Given the description of an element on the screen output the (x, y) to click on. 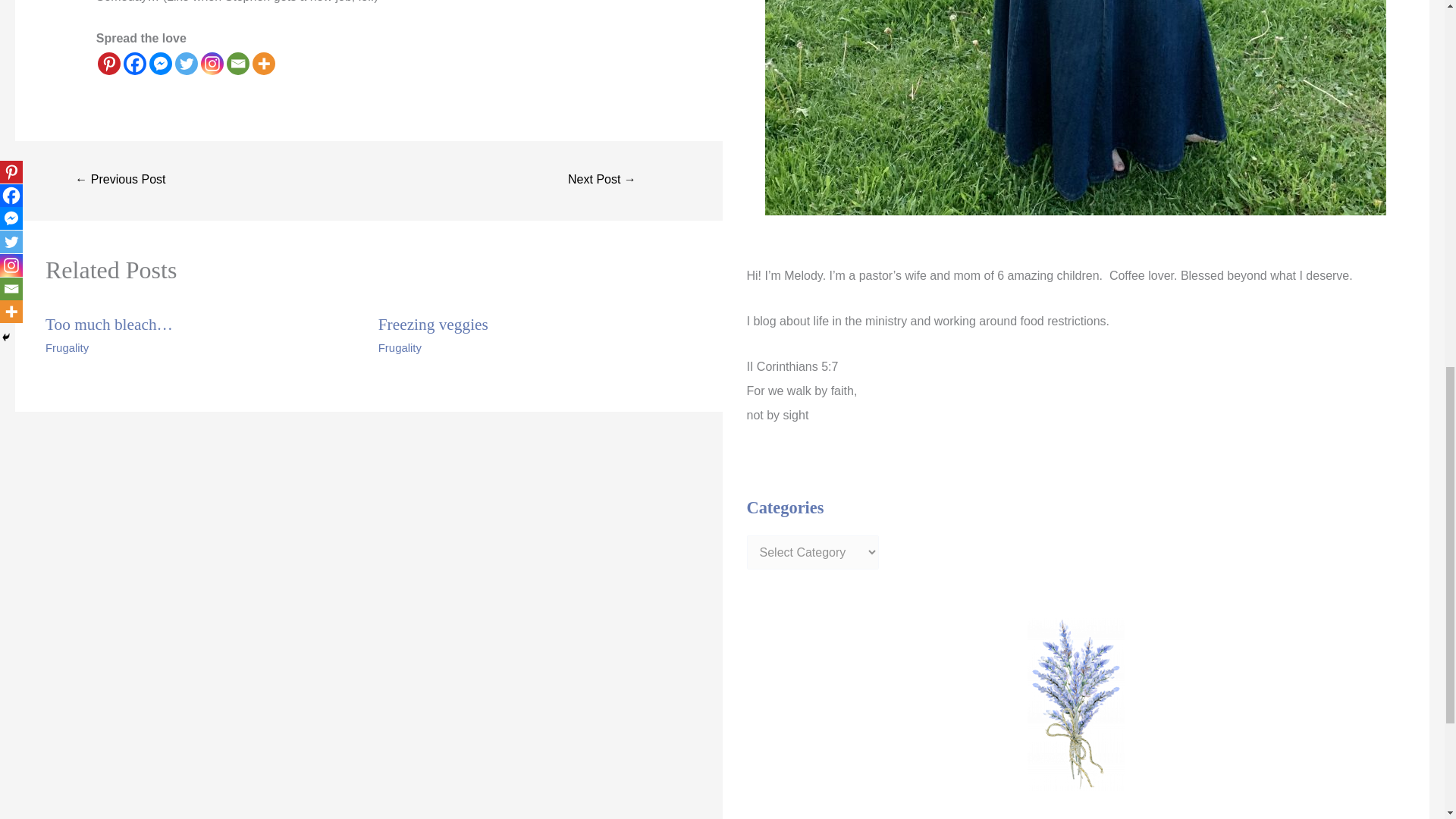
Facebook (135, 63)
Instagram (212, 63)
Pinterest (108, 63)
Email (237, 63)
Do you have a cause? (119, 180)
Attica, IN (601, 180)
More (263, 63)
Twitter (186, 63)
